Given the description of an element on the screen output the (x, y) to click on. 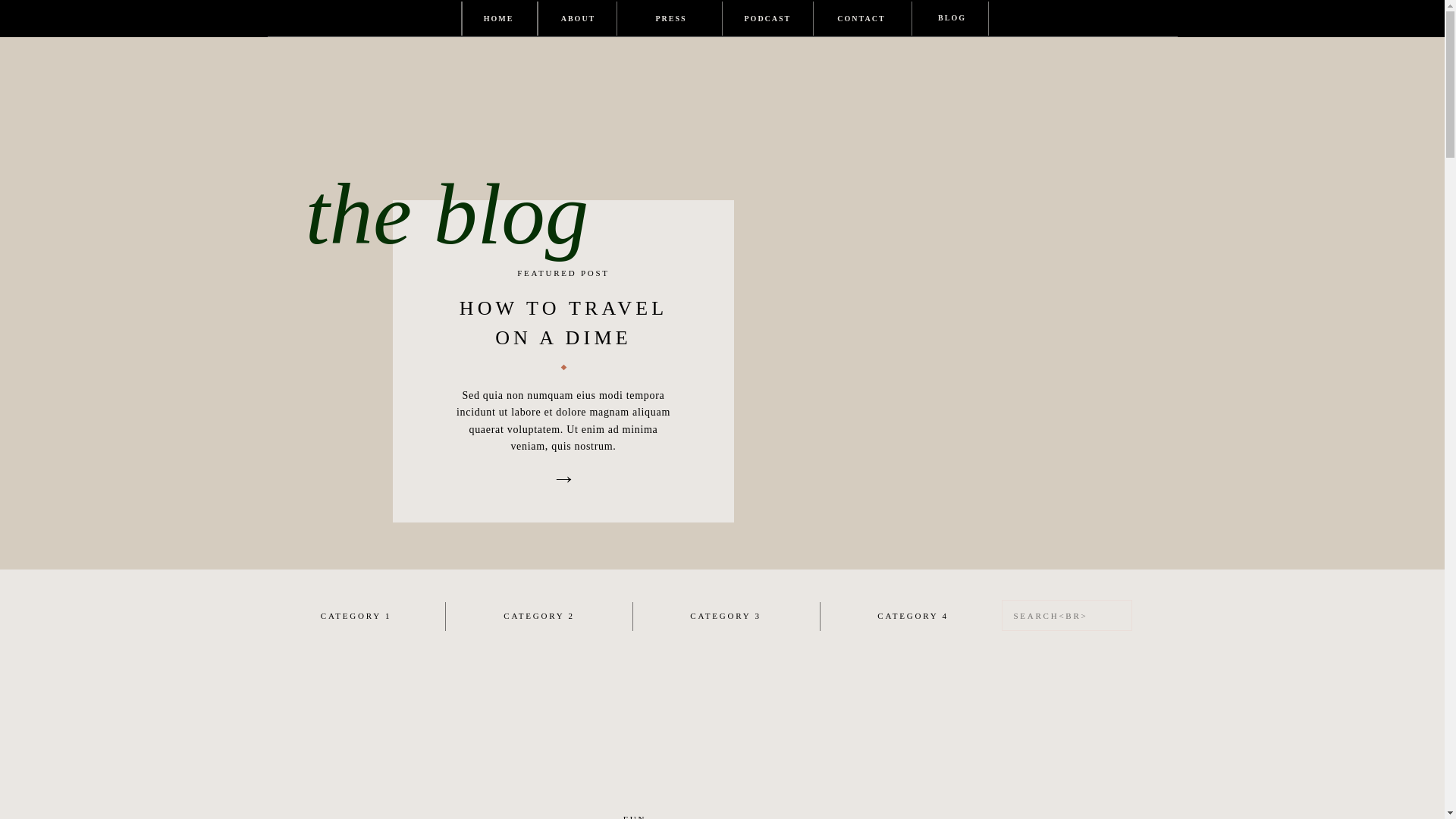
CATEGORY 1 (355, 616)
CATEGORY 4 (913, 616)
FEATURED POST (564, 273)
BLOG (952, 18)
CONTACT (860, 18)
ABOUT (577, 18)
CATEGORY 3 (725, 616)
PRESS (670, 18)
PODCAST (767, 18)
HOME (497, 18)
FUN (634, 816)
CATEGORY 2 (539, 616)
